Given the description of an element on the screen output the (x, y) to click on. 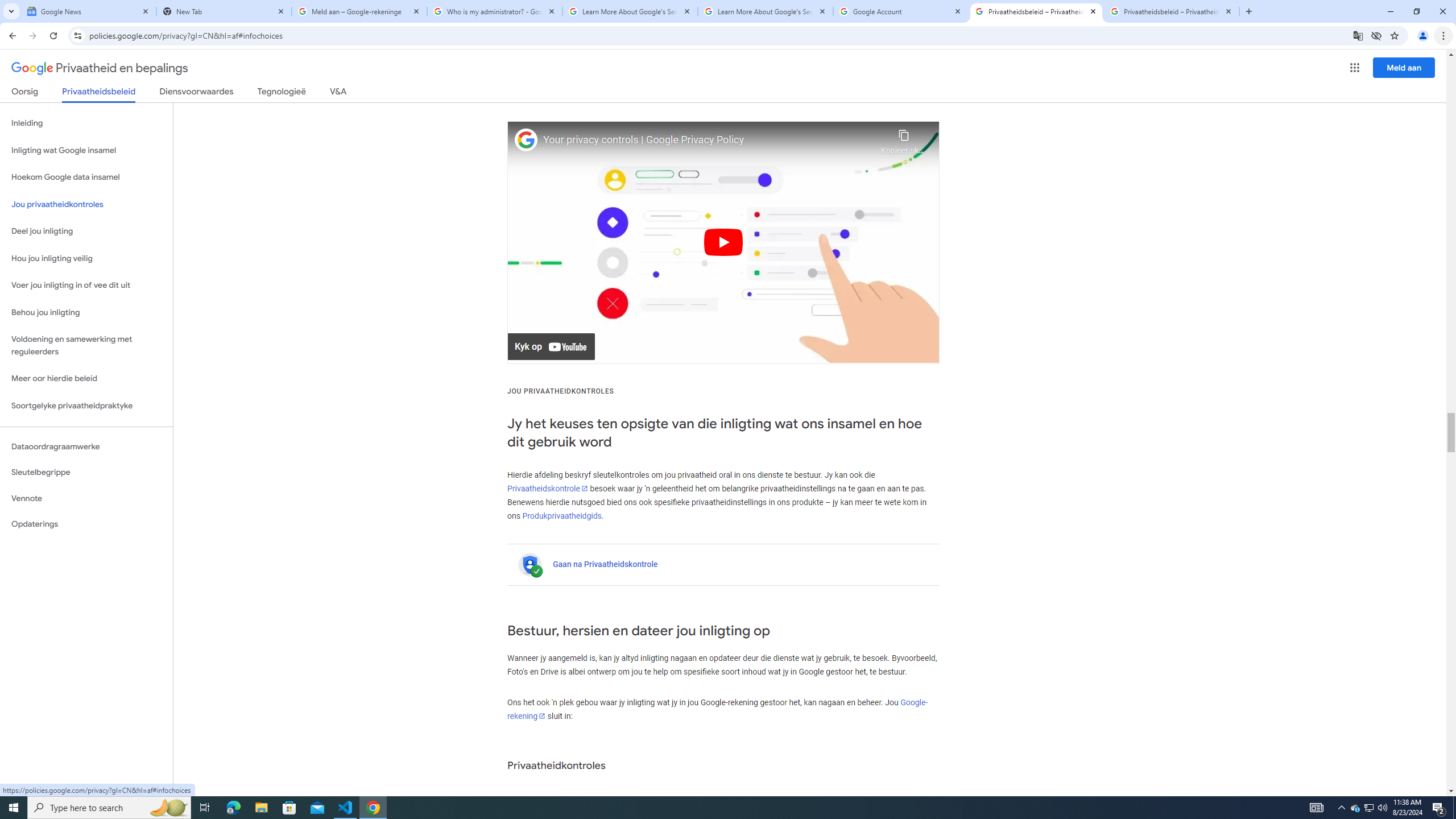
Voer jou inligting in of vee dit uit (86, 284)
Sleutelbegrippe (86, 472)
Inleiding (86, 122)
Deel jou inligting (86, 230)
Google-rekening (717, 708)
Google-programme (1355, 67)
Kopieer skakel (903, 139)
Hoekom Google data insamel (86, 176)
Jou privaatheidkontroles (86, 204)
Meld aan (1404, 67)
